Given the description of an element on the screen output the (x, y) to click on. 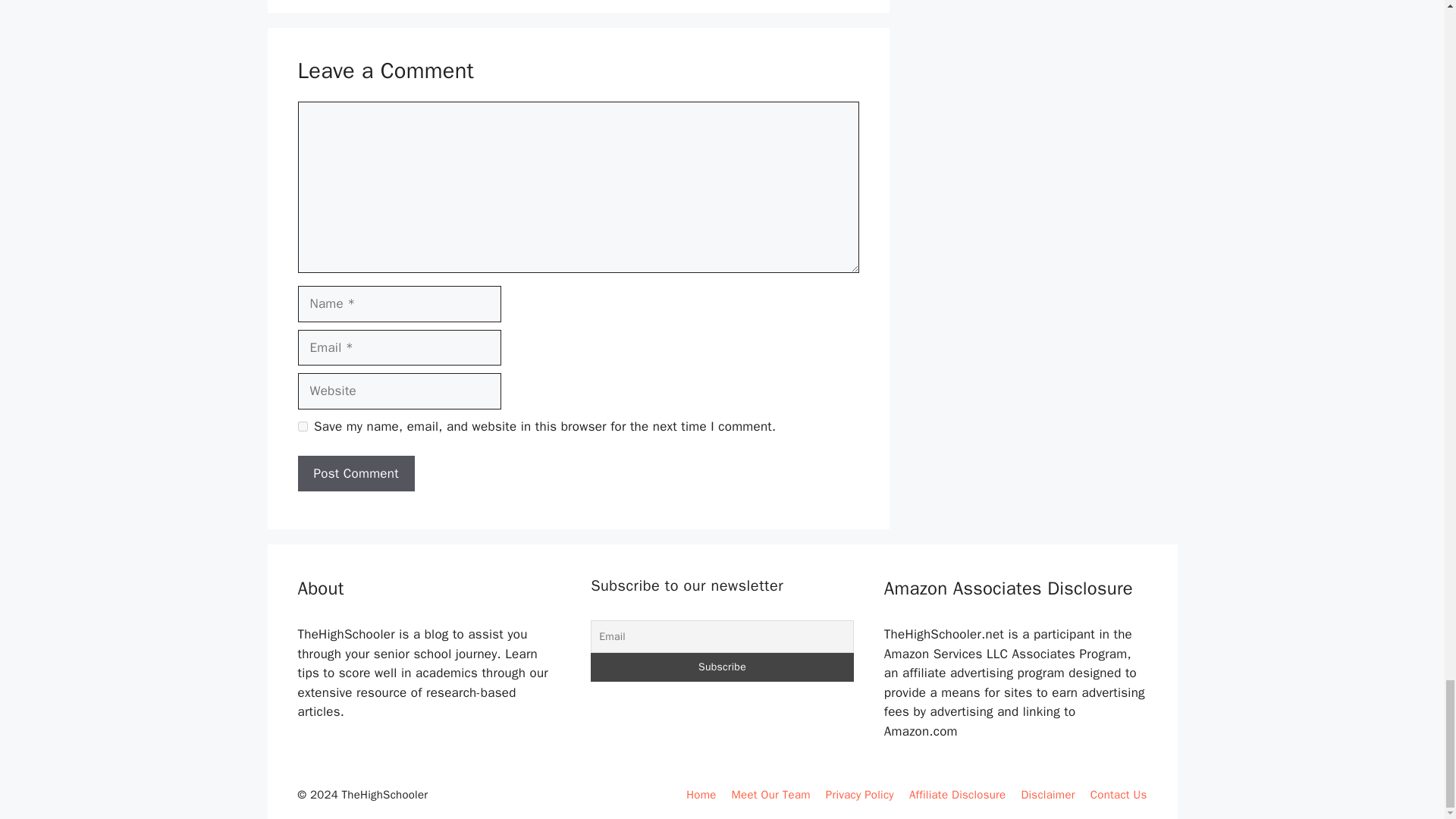
Post Comment (355, 473)
Subscribe (722, 666)
yes (302, 426)
Post Comment (355, 473)
Subscribe (722, 666)
